Given the description of an element on the screen output the (x, y) to click on. 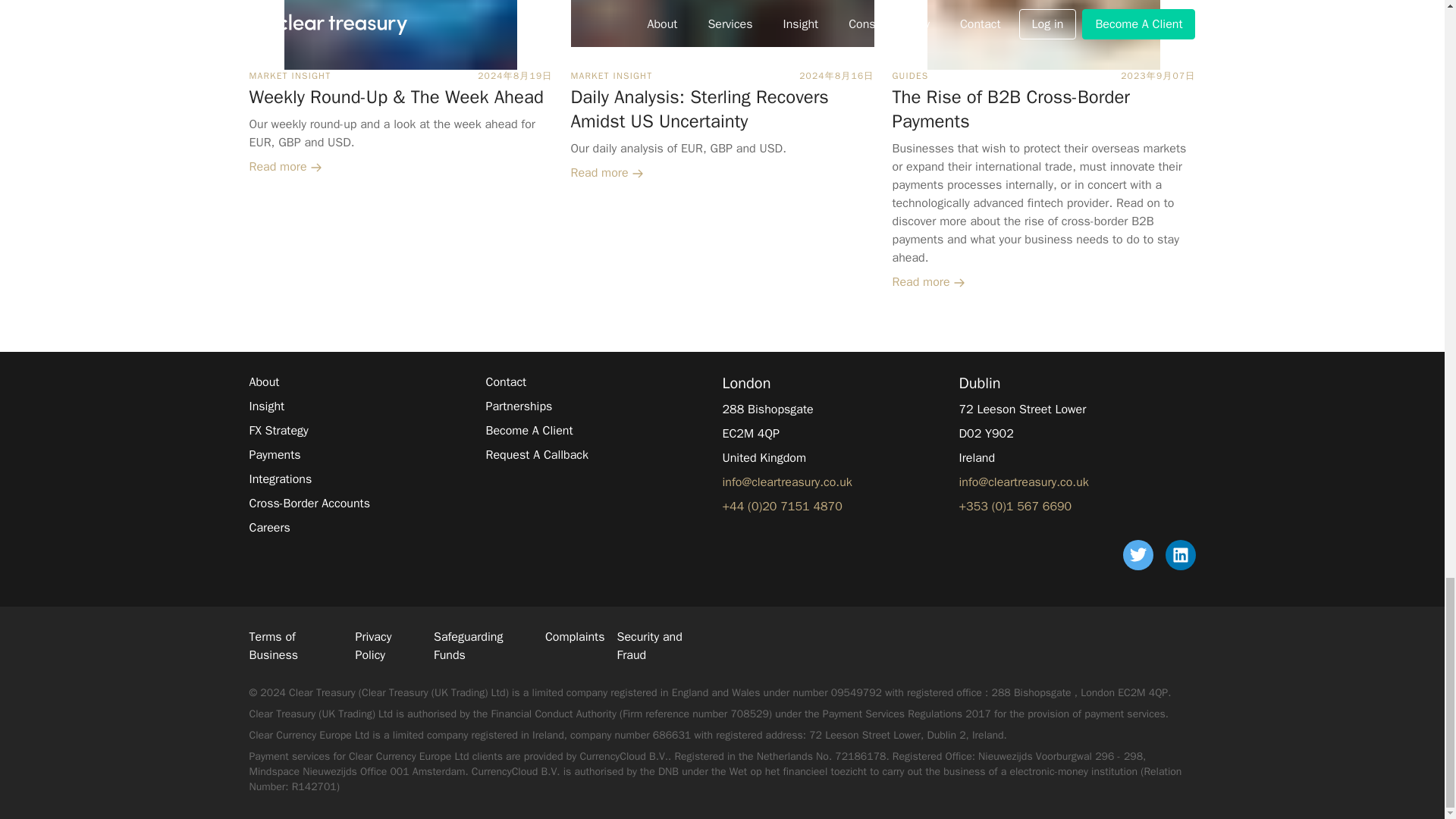
Cross-Border Accounts (308, 503)
Partnerships (517, 406)
FX Strategy (277, 430)
Insight (265, 406)
Contact (504, 381)
About (263, 381)
Request A Callback (536, 454)
Careers (268, 527)
Integrations (279, 478)
Become A Client (528, 430)
